Given the description of an element on the screen output the (x, y) to click on. 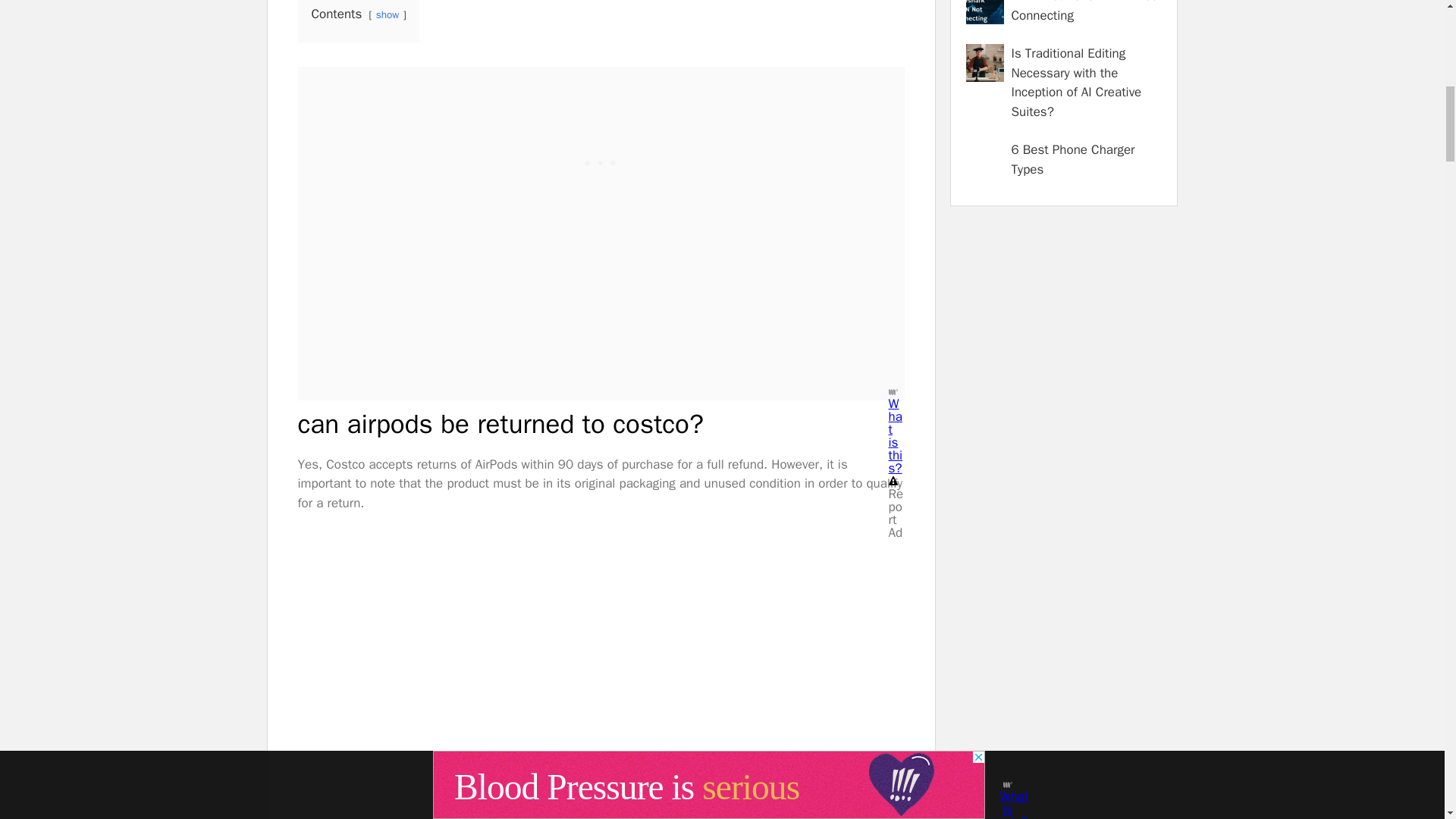
3rd party ad content (1062, 300)
3rd party ad content (600, 161)
show (386, 14)
